Given the description of an element on the screen output the (x, y) to click on. 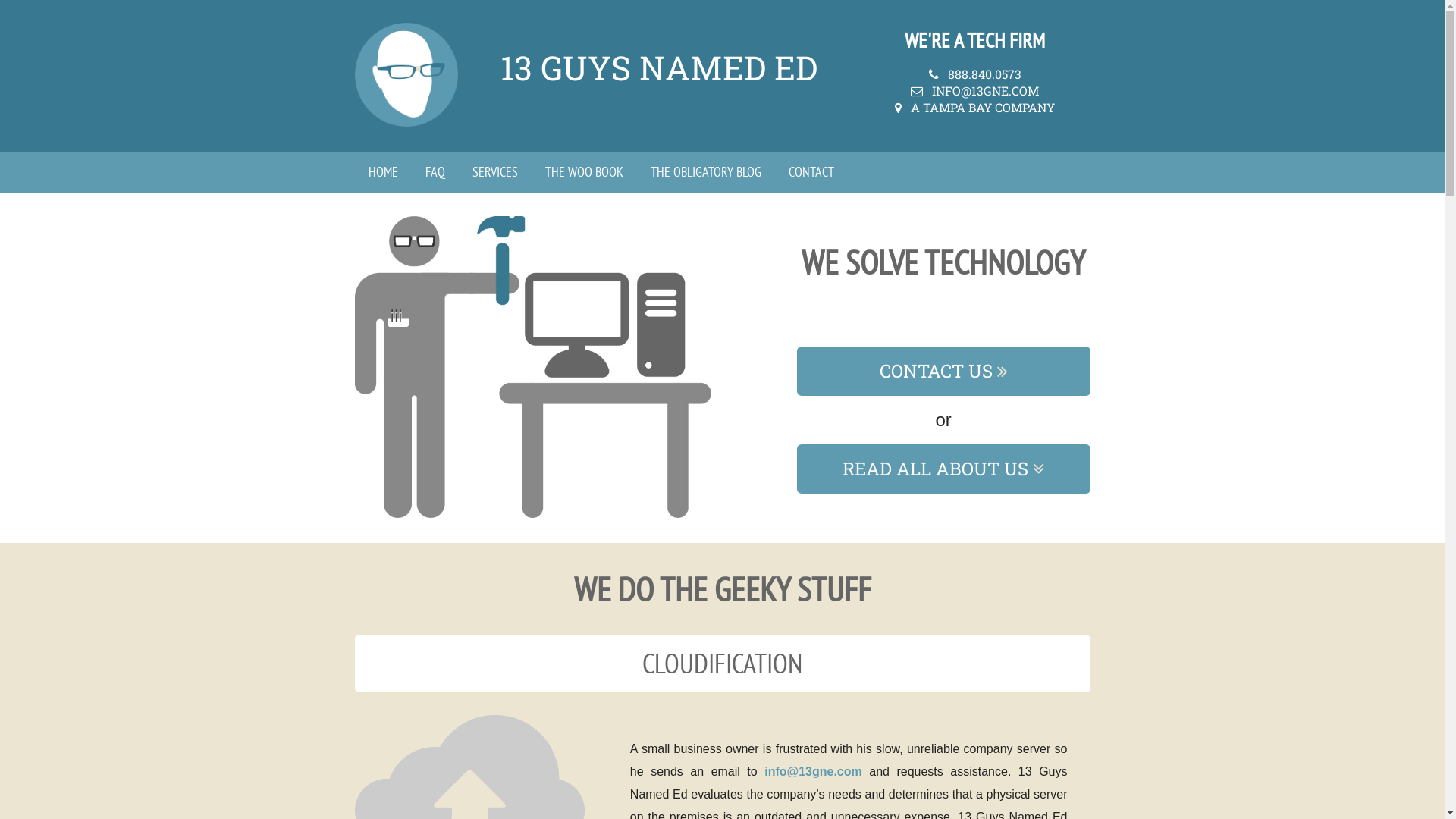
INFO@13GNE.COM Element type: text (984, 90)
A TAMPA BAY COMPANY Element type: text (982, 107)
THE WOO BOOK Element type: text (583, 172)
CONTACT Element type: text (811, 172)
CONTACT US Element type: text (935, 370)
THE OBLIGATORY BLOG Element type: text (706, 172)
FAQ Element type: text (434, 172)
info@13gne.com Element type: text (813, 771)
HOME Element type: text (382, 172)
SERVICES Element type: text (494, 172)
We Solve Technology Element type: hover (532, 366)
